Given the description of an element on the screen output the (x, y) to click on. 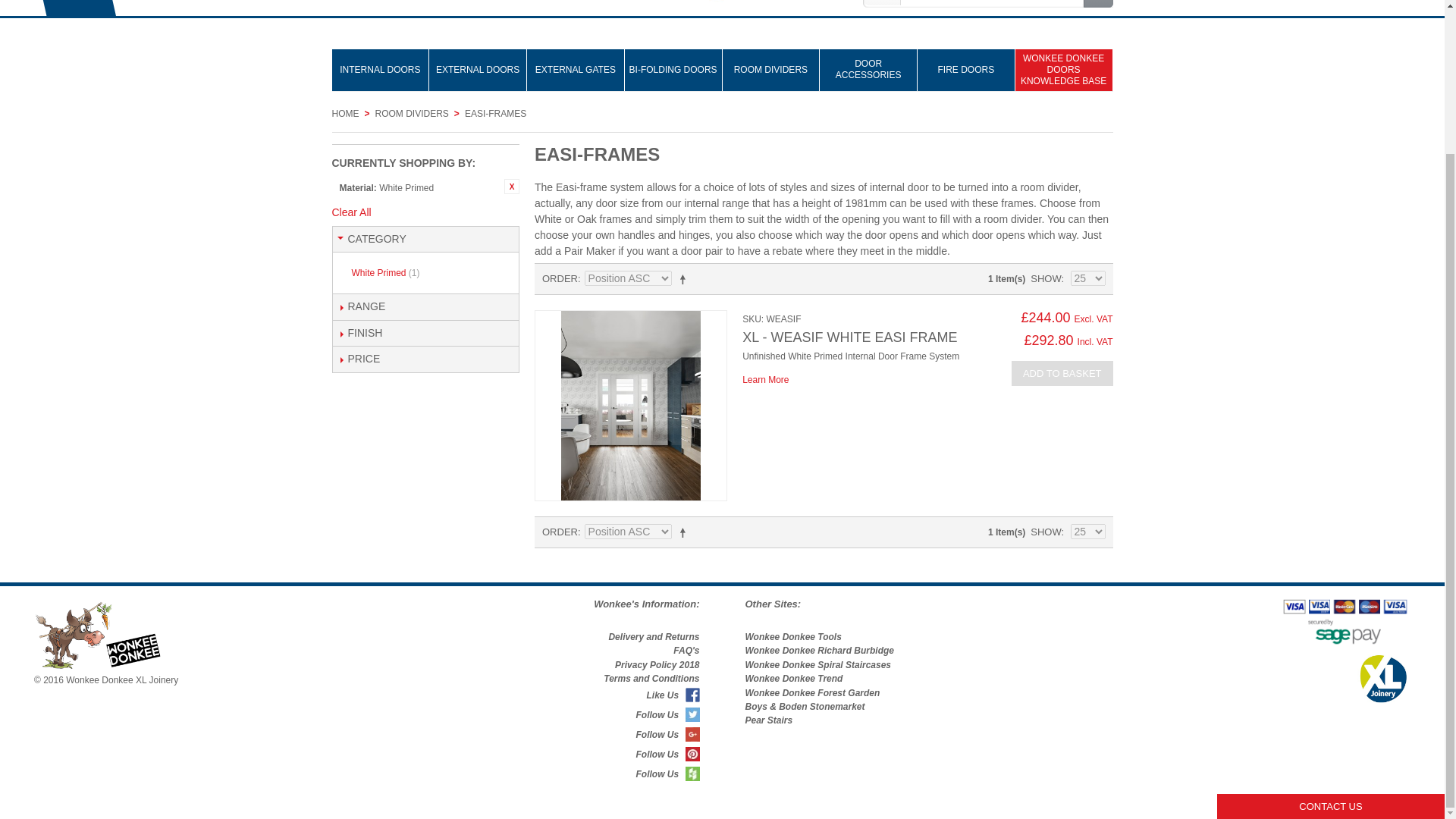
Add to Basket (1062, 373)
Remove This Item (511, 186)
EXTERNAL GATES (575, 69)
GO (1097, 3)
INTERNAL DOORS (380, 69)
Delivery and Returns (653, 636)
Go to Home Page (345, 113)
Sort By (628, 278)
Go (1097, 3)
Results per page (1087, 278)
EXTERNAL DOORS (477, 69)
XL - WEASIF White Easi Frame (630, 405)
Sort By (628, 531)
XL - WEASIF White Easi Frame (765, 379)
Results per page (1087, 531)
